Given the description of an element on the screen output the (x, y) to click on. 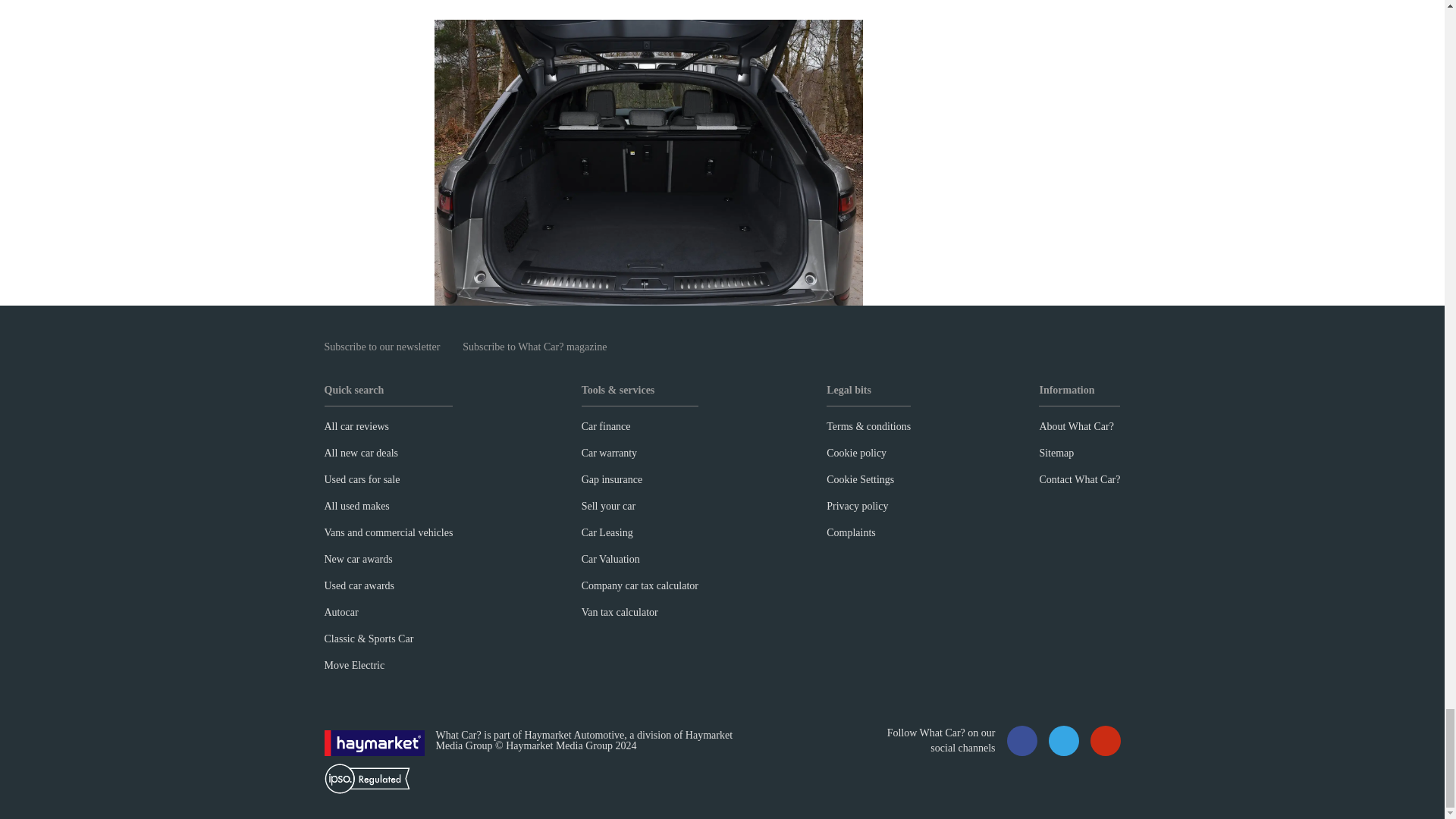
IPSO (367, 778)
Haymarket (374, 742)
